Given the description of an element on the screen output the (x, y) to click on. 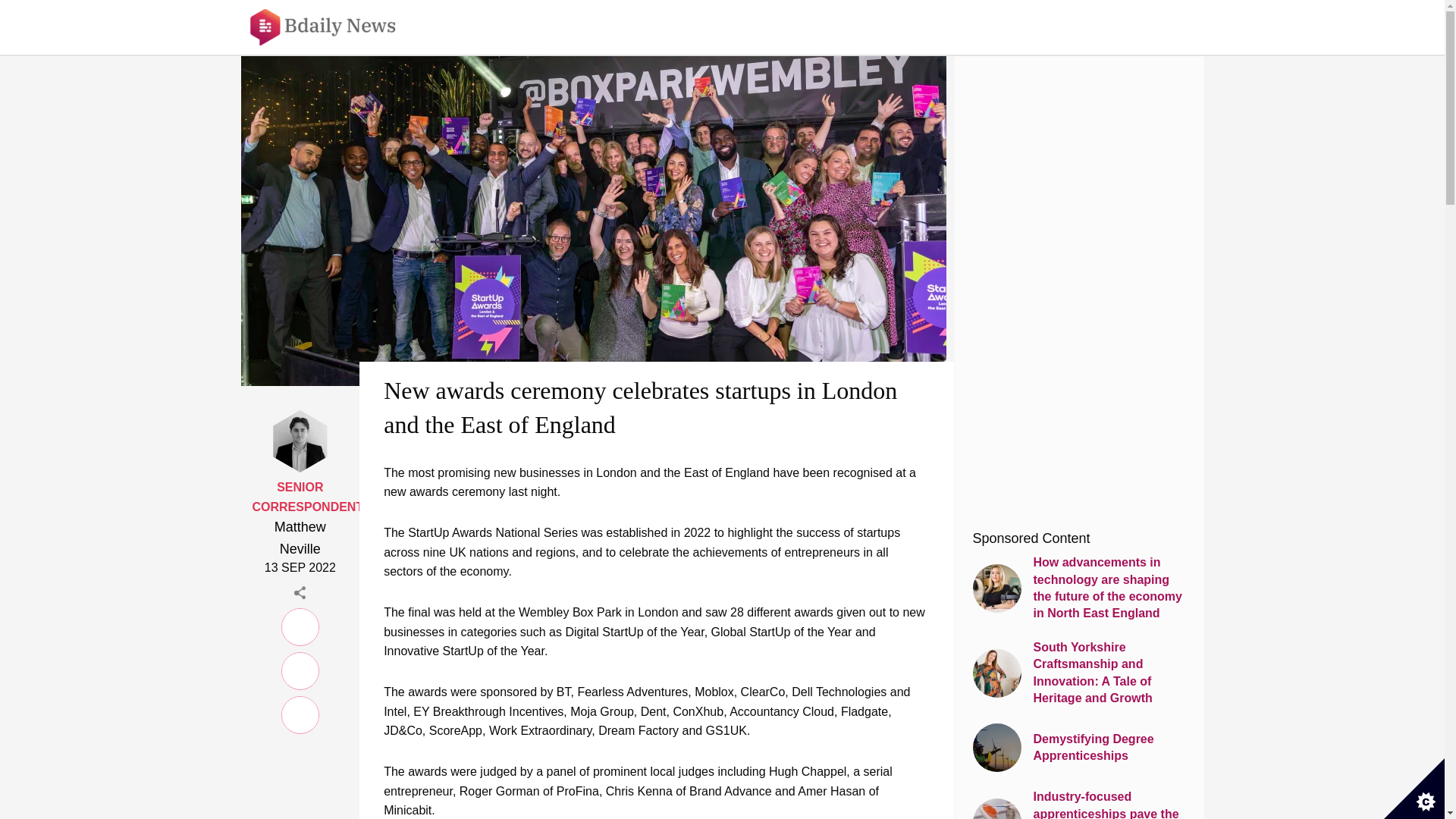
Facebook (300, 668)
Matthew Neville (299, 538)
Twitter (300, 712)
Demystifying Degree Apprenticeships (1078, 747)
LinkedIn (300, 624)
Bdaily (333, 27)
